Given the description of an element on the screen output the (x, y) to click on. 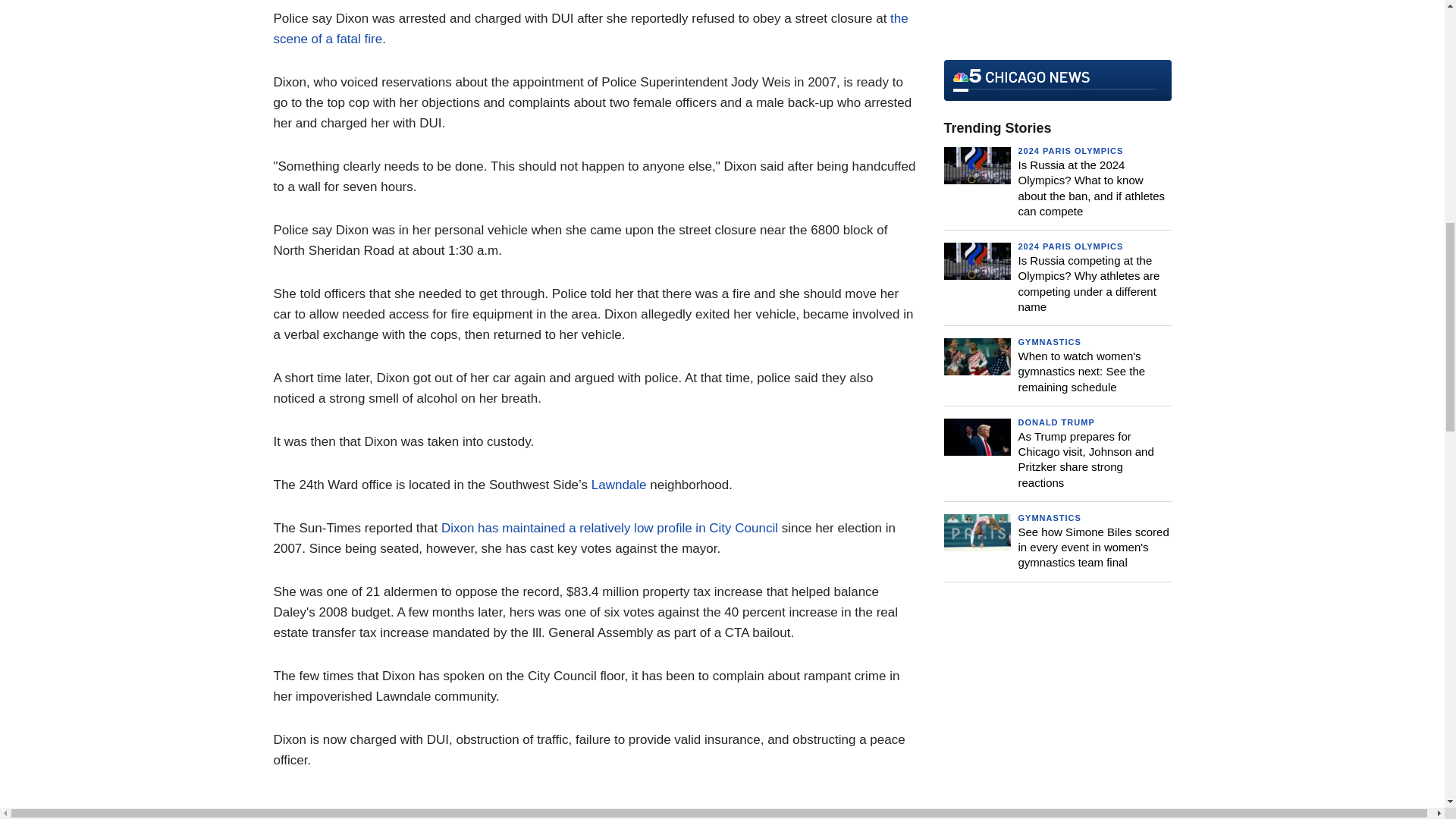
2024 PARIS OLYMPICS (1069, 150)
Lawndale (618, 484)
the scene of a fatal fire (590, 28)
3rd party ad content (1056, 719)
Lawndale (618, 484)
2024 PARIS OLYMPICS (1069, 245)
3rd party ad content (1056, 24)
